Given the description of an element on the screen output the (x, y) to click on. 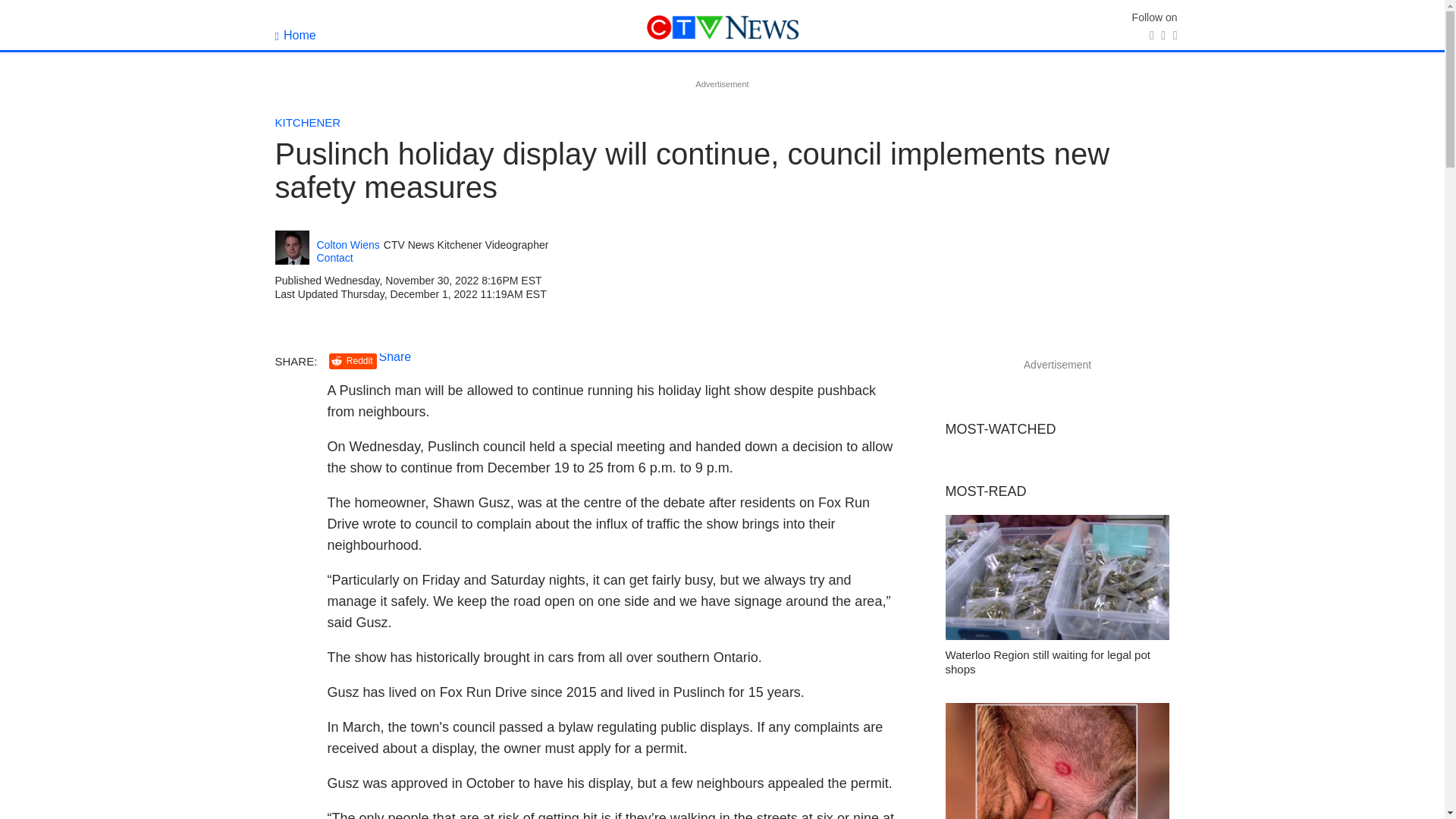
Home (295, 34)
KITCHENER (307, 122)
Reddit (353, 360)
Contact (335, 257)
Share (395, 356)
Colton Wiens (348, 245)
